Given the description of an element on the screen output the (x, y) to click on. 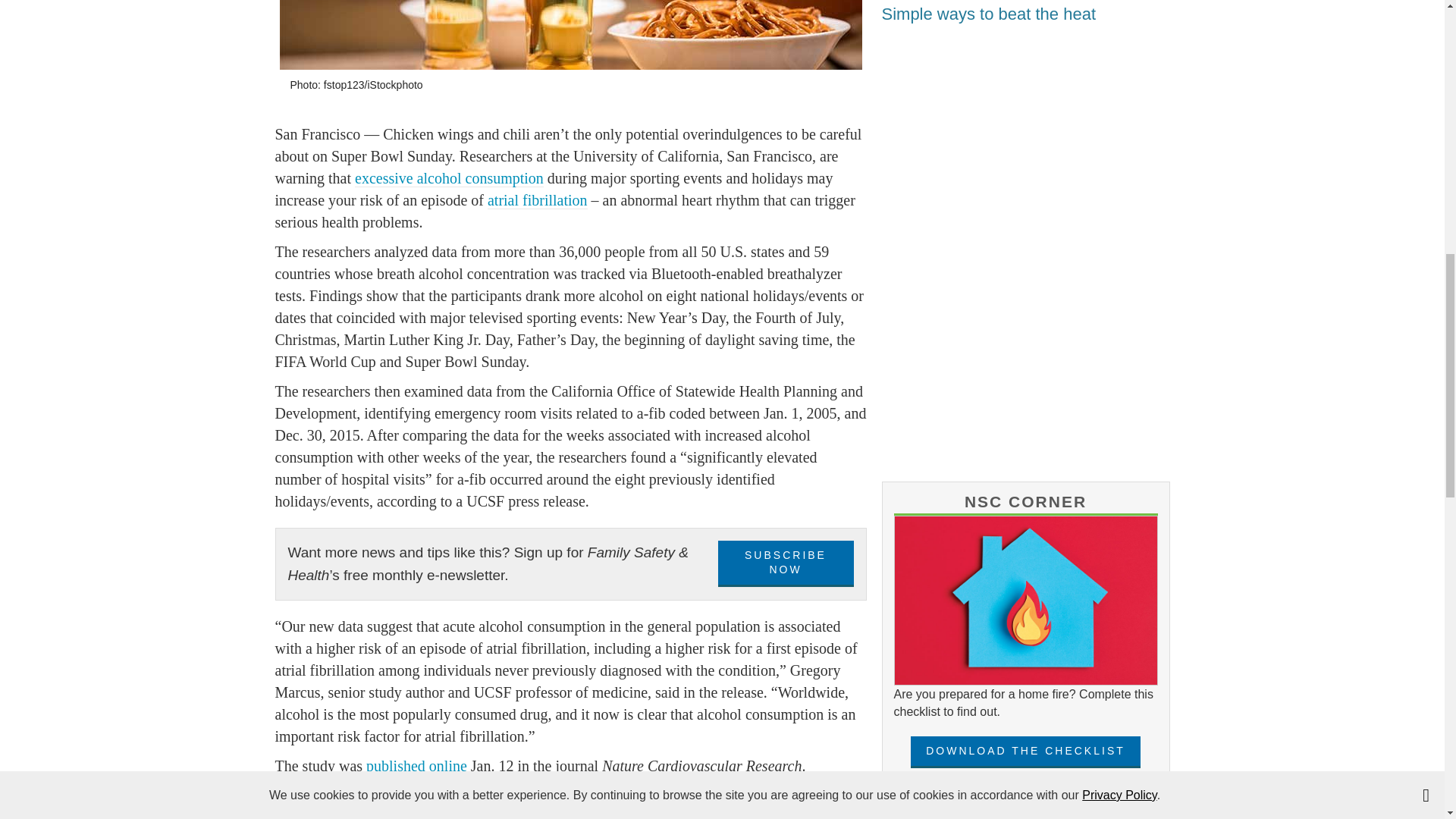
fire (1025, 600)
